Given the description of an element on the screen output the (x, y) to click on. 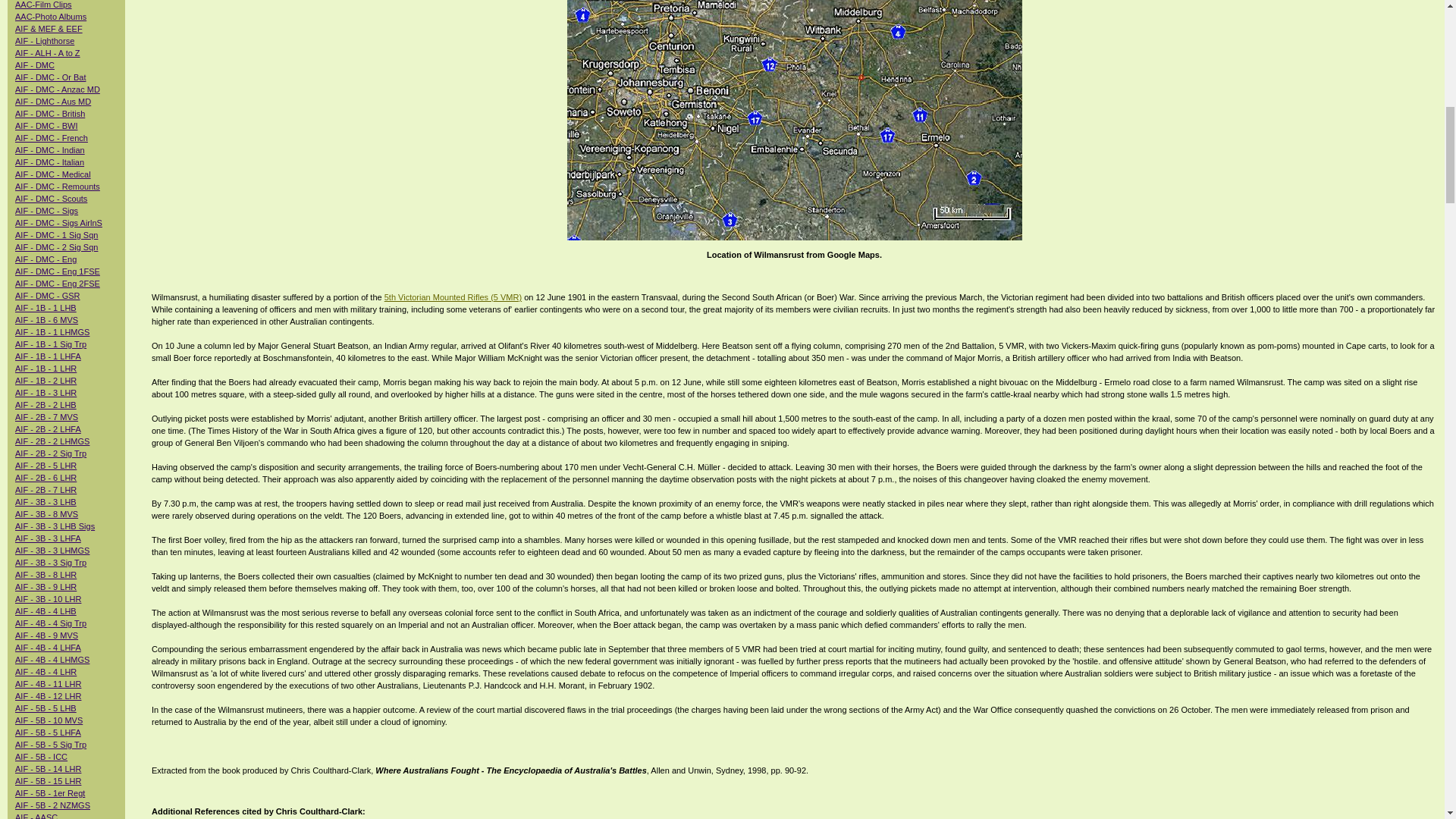
AAC-Photo Albums (49, 16)
AIF - Lighthorse (44, 40)
AAC-Film Clips (42, 4)
AIF - ALH - A to Z (47, 52)
AIF - DMC - Or Bat (49, 76)
AIF - DMC (34, 64)
